Given the description of an element on the screen output the (x, y) to click on. 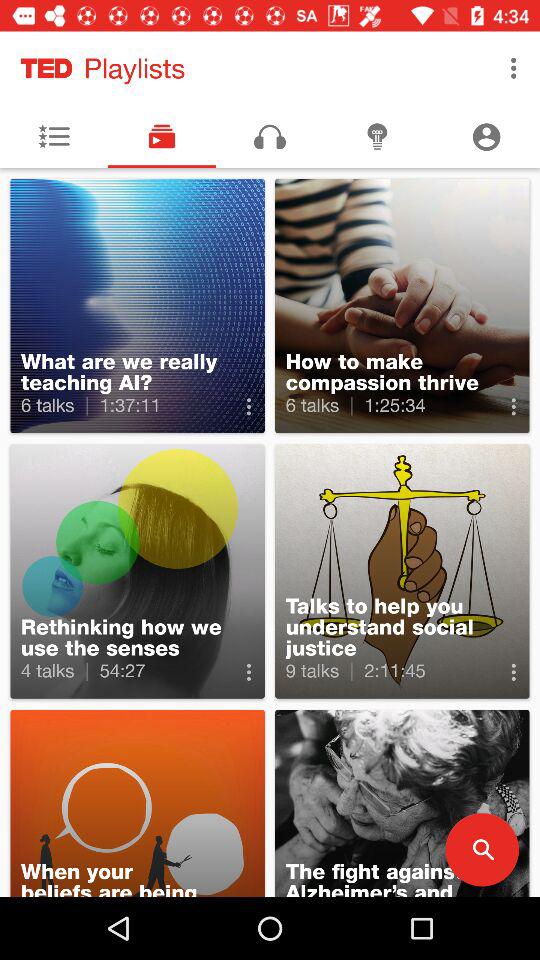
select more option which is on the second right side of the page (513, 672)
select menu option below how to make compassion thrive on the page (513, 406)
select the image  what are we really teaching al on the top corner of the screen (137, 305)
go to first option in second row (137, 571)
go to bulb symbol (377, 135)
move to the text left to the playlists (47, 68)
select the music icon on the top of the page (269, 135)
